Given the description of an element on the screen output the (x, y) to click on. 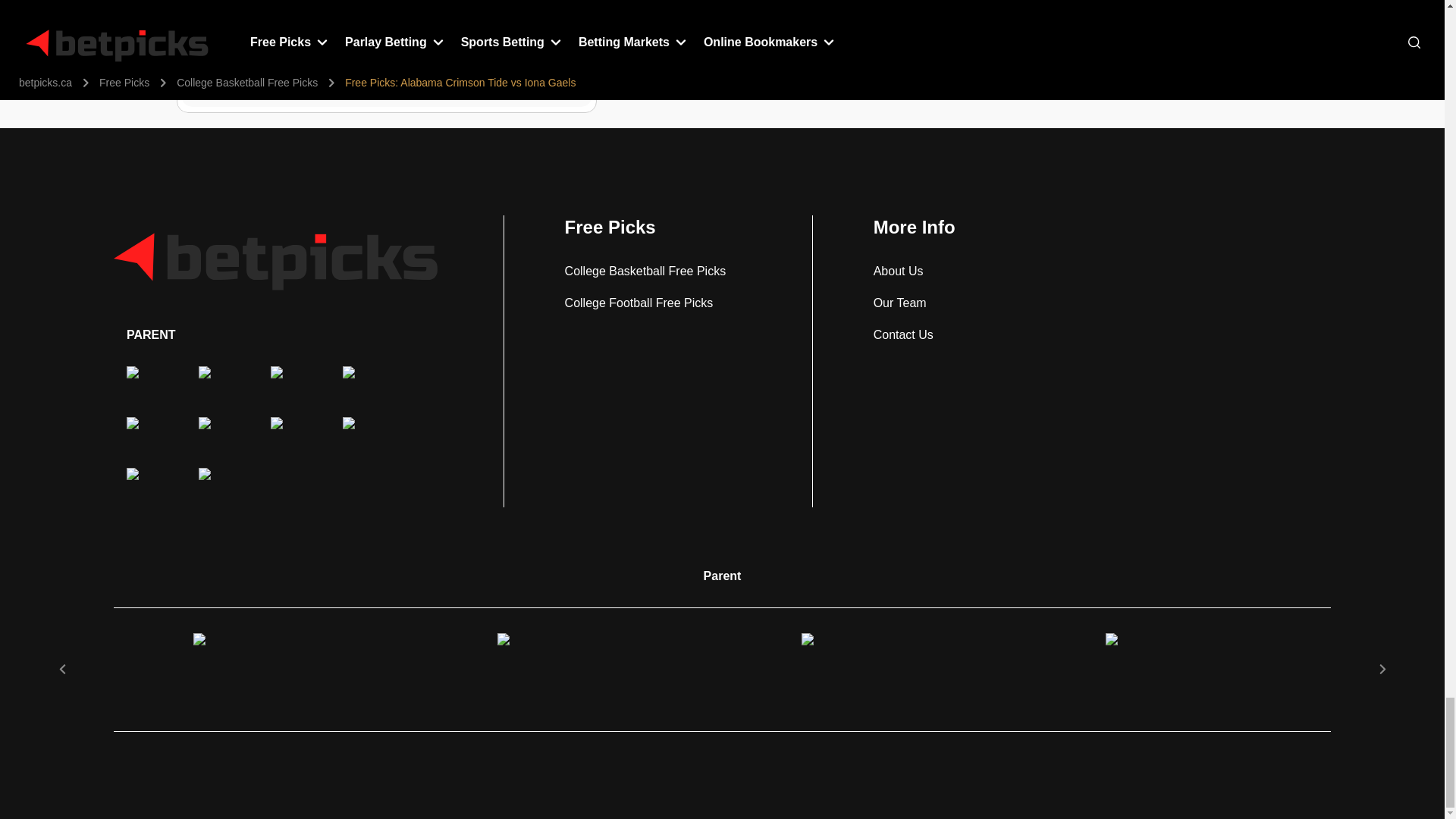
Icon B Ice Hockey silhouette (145, 436)
Icon B Football silhouette Soccer (145, 385)
Icon B Horse racing silhouette (361, 385)
BetPicks CA (276, 255)
Icon B American Football silhouette (218, 385)
Icon B Basketball silhouette (218, 436)
Bet365 (290, 385)
